Given the description of an element on the screen output the (x, y) to click on. 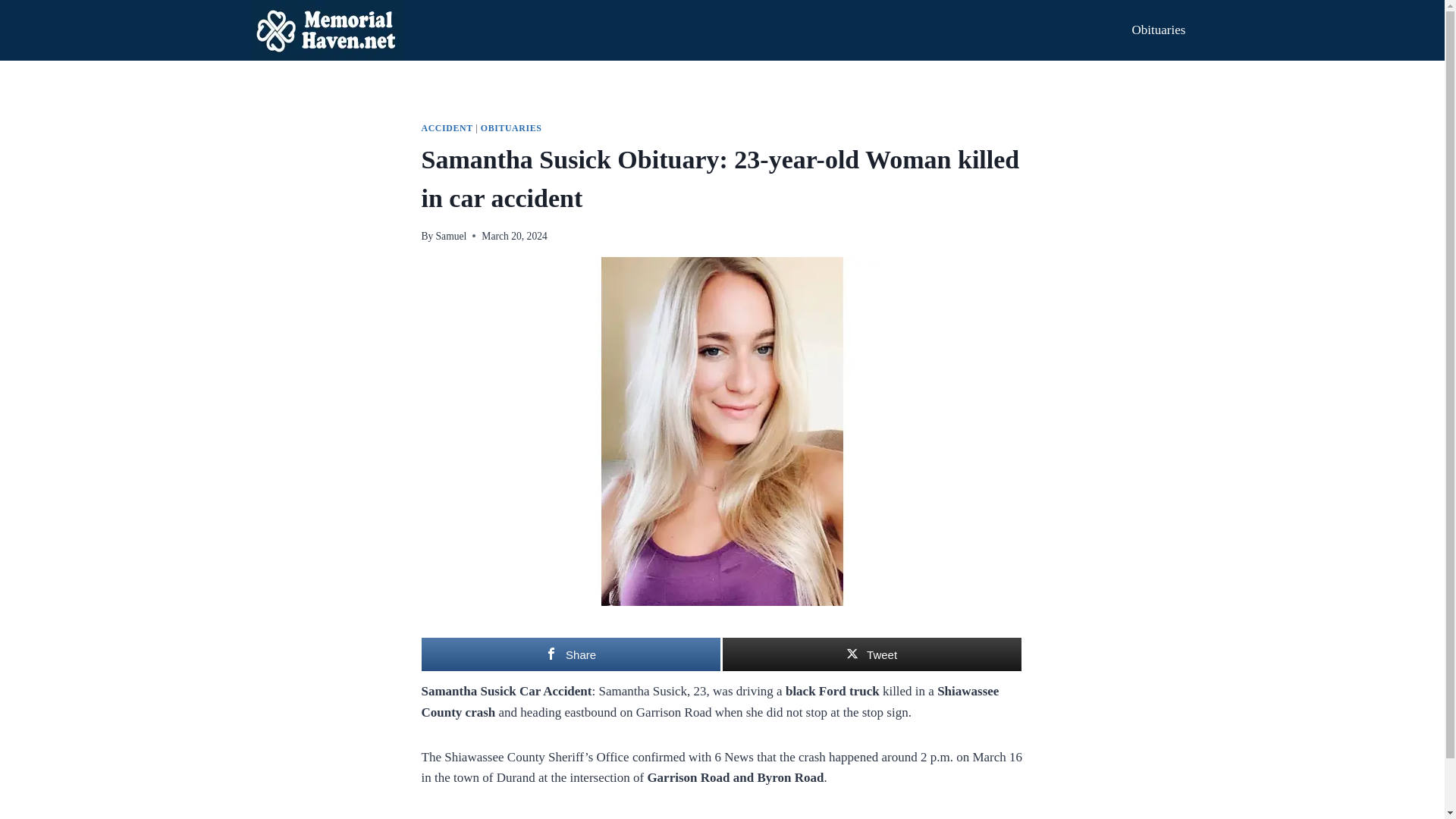
ACCIDENT (447, 127)
Tweet (871, 654)
Samuel (451, 235)
Obituaries (1158, 30)
OBITUARIES (510, 127)
Share (571, 654)
